Given the description of an element on the screen output the (x, y) to click on. 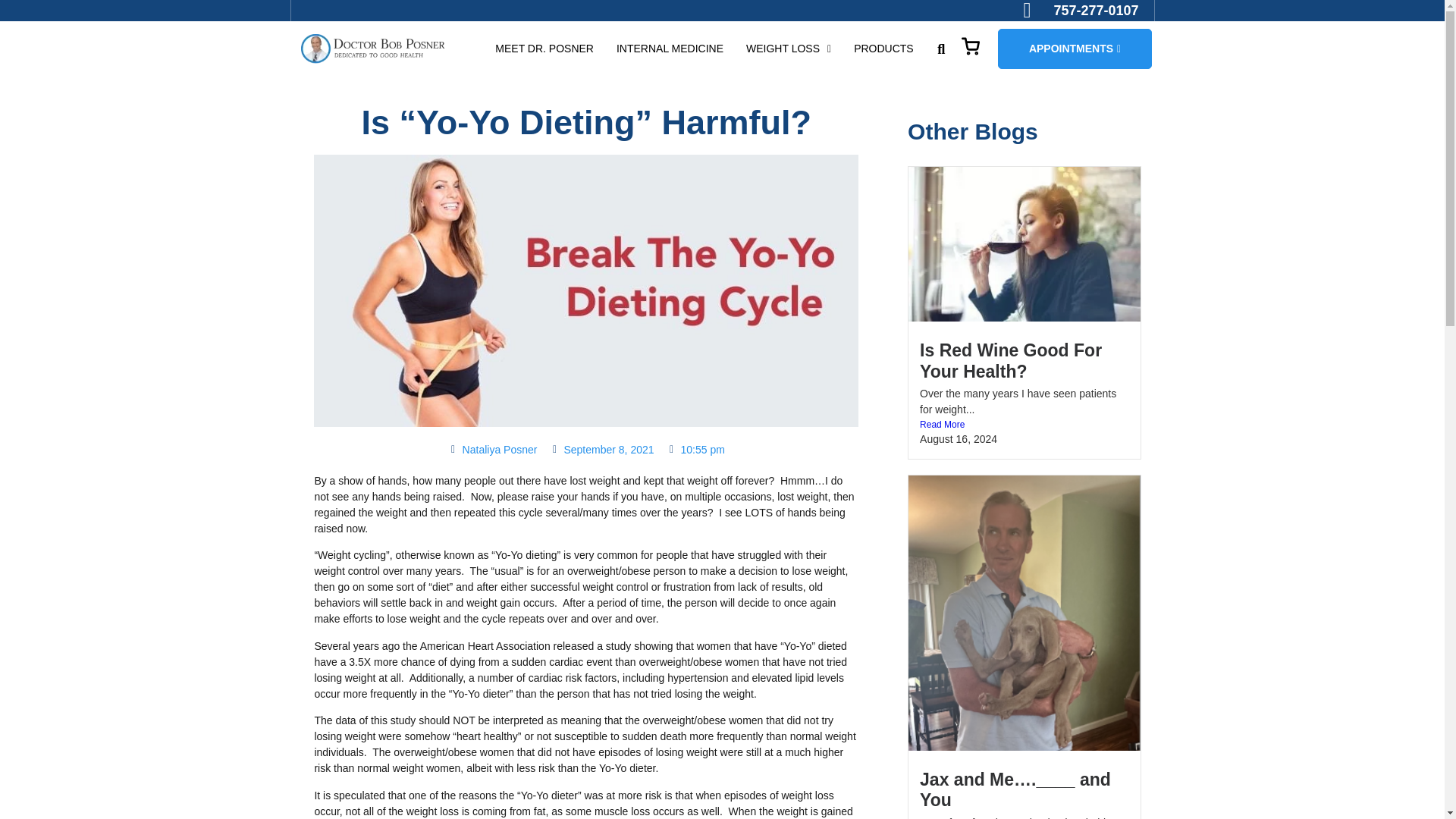
APPOINTMENTS (1074, 48)
INTERNAL MEDICINE (669, 48)
Is Red Wine Good For Your Health? (1011, 360)
757-277-0107 (1080, 10)
MEET DR. POSNER (544, 48)
PRODUCTS (883, 48)
WEIGHT LOSS (788, 48)
